Given the description of an element on the screen output the (x, y) to click on. 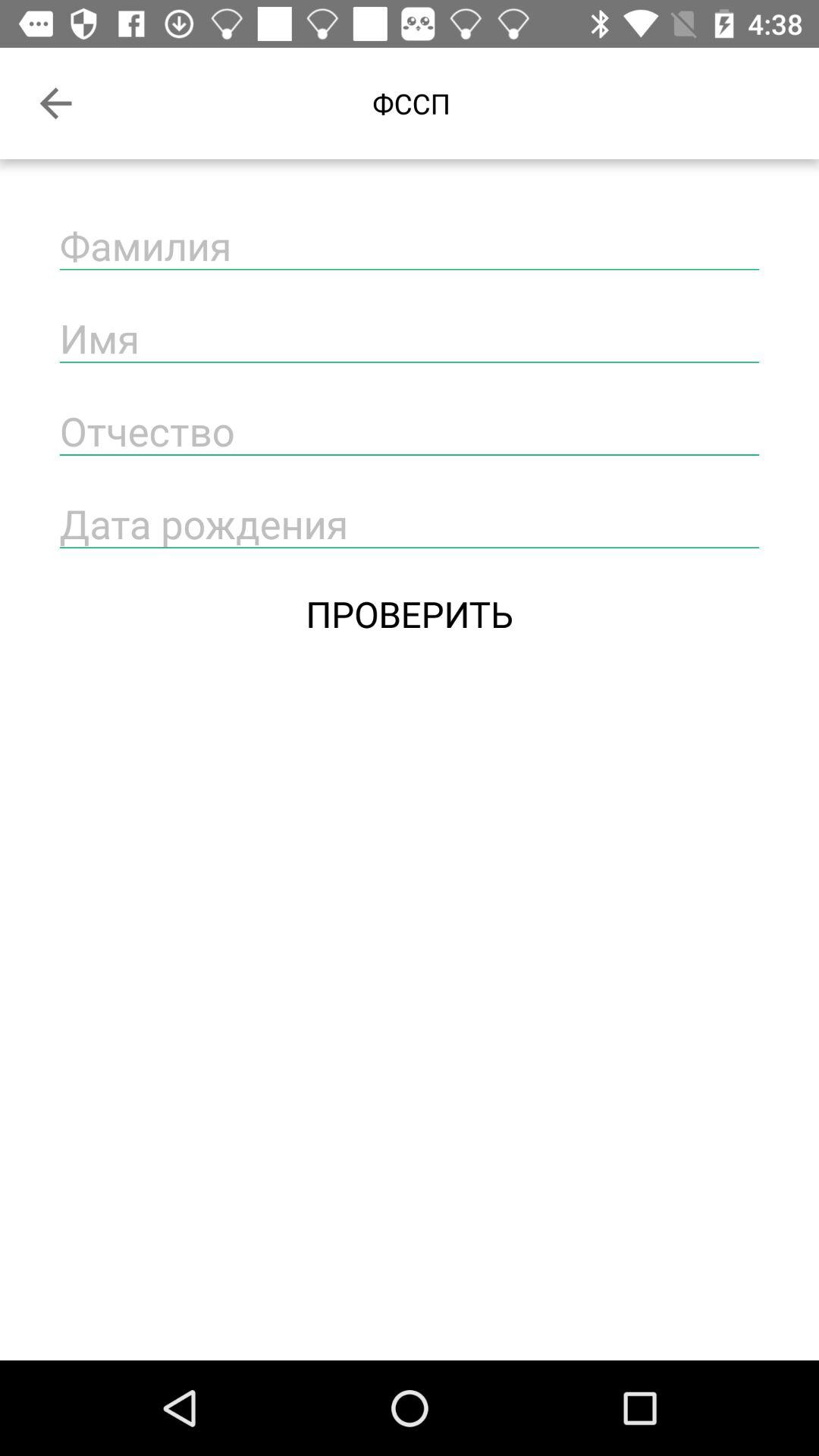
launch the item at the top left corner (55, 103)
